Given the description of an element on the screen output the (x, y) to click on. 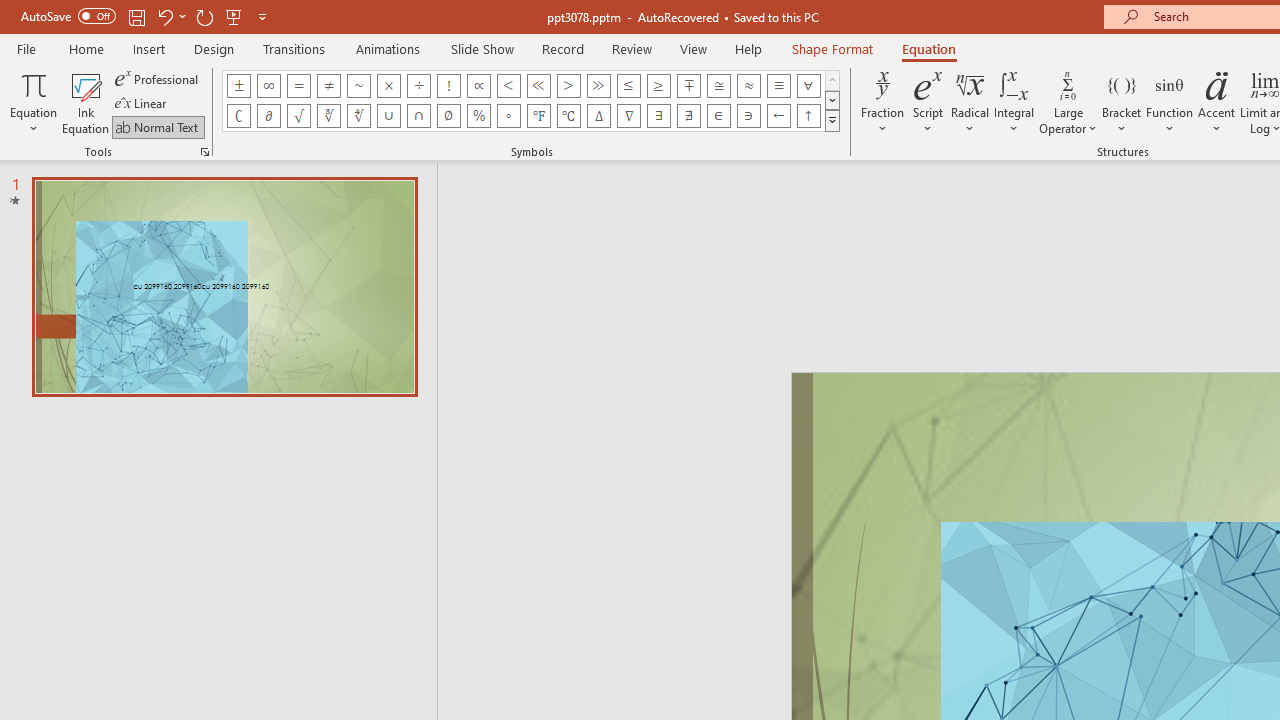
Equation Symbol There Does Not Exist (689, 115)
Radical (970, 102)
Equation Symbol Complement (238, 115)
Equation (928, 48)
Equation Symbol Multiplication Sign (388, 85)
Accent (1216, 102)
Professional (158, 78)
Equation (33, 102)
Integral (1014, 102)
Bracket (1121, 102)
Equation Symbol Approximately (358, 85)
Equation Symbol Greater Than or Equal To (658, 85)
Equation Symbol Plus Minus (238, 85)
